Given the description of an element on the screen output the (x, y) to click on. 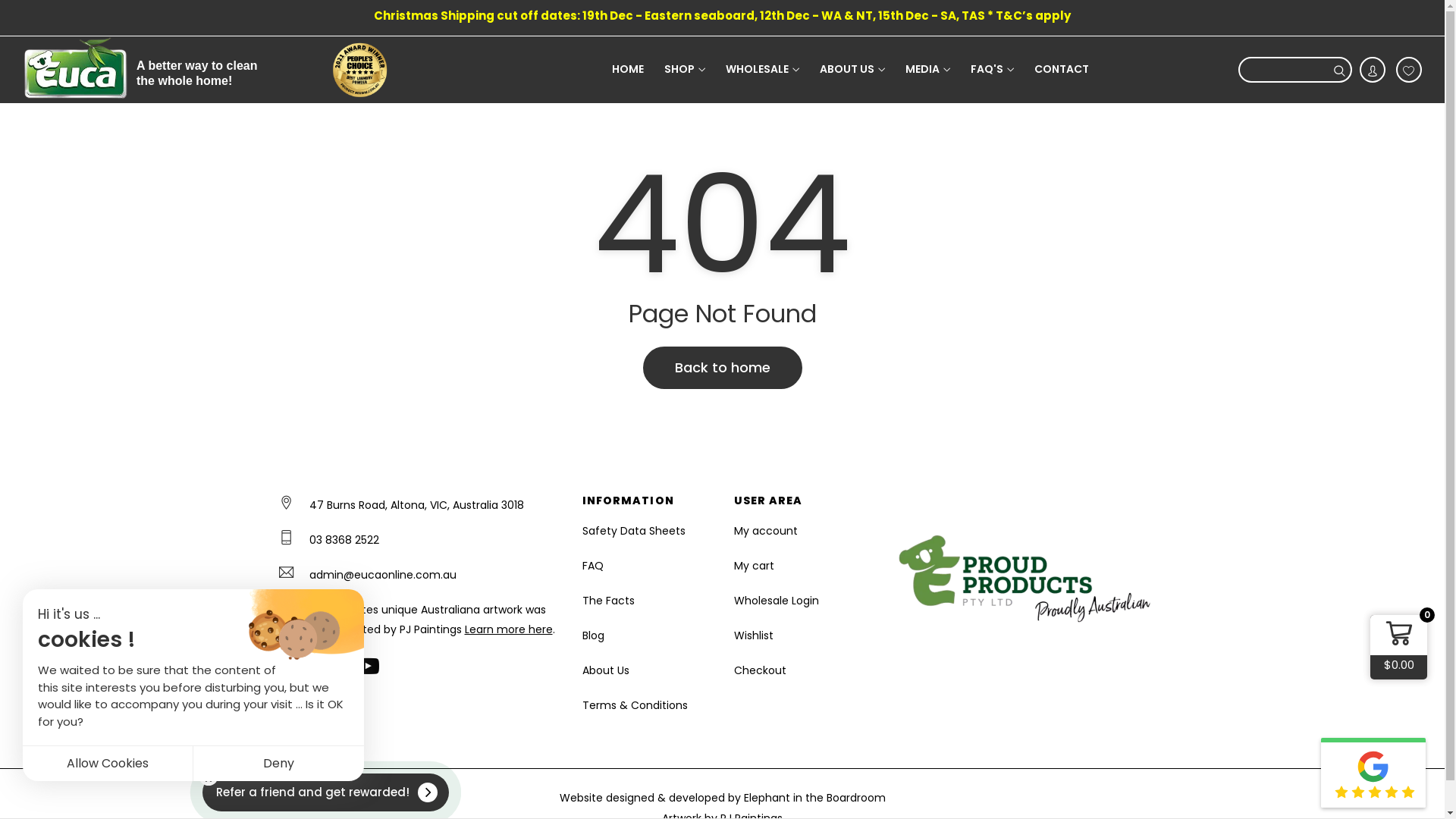
ABOUT US Element type: text (852, 69)
WHOLESALE Element type: text (762, 69)
FAQ Element type: text (646, 565)
The Facts Element type: text (646, 600)
My account Element type: text (798, 530)
FAQ'S Element type: text (992, 69)
Website designed & developed by Elephant in the Boardroom Element type: text (722, 797)
Back to home Element type: text (722, 367)
About Us Element type: text (646, 670)
Deny Element type: text (278, 762)
Learn more here Element type: text (508, 629)
admin@eucaonline.com.au Element type: text (382, 574)
Login/Sign Up Element type: hover (1372, 69)
Checkout Element type: text (798, 670)
Safety Data Sheets Element type: text (646, 530)
Allow Cookies Element type: text (107, 762)
0
$0.00 Element type: text (1398, 647)
Wishlist Element type: text (798, 635)
03 8368 2522 Element type: text (344, 539)
Wholesale Login Element type: text (798, 600)
Favorite Element type: text (1408, 69)
CONTACT Element type: text (1061, 68)
HOME Element type: text (627, 68)
SHOP Element type: text (684, 69)
Blog Element type: text (646, 635)
Refer a friend and get rewarded! Element type: text (326, 792)
47 Burns Road, Altona, VIC, Australia 3018 Element type: text (416, 504)
My cart Element type: text (798, 565)
EUCA Home Page Element type: hover (75, 69)
Terms & Conditions Element type: text (646, 705)
MEDIA Element type: text (927, 69)
